Given the description of an element on the screen output the (x, y) to click on. 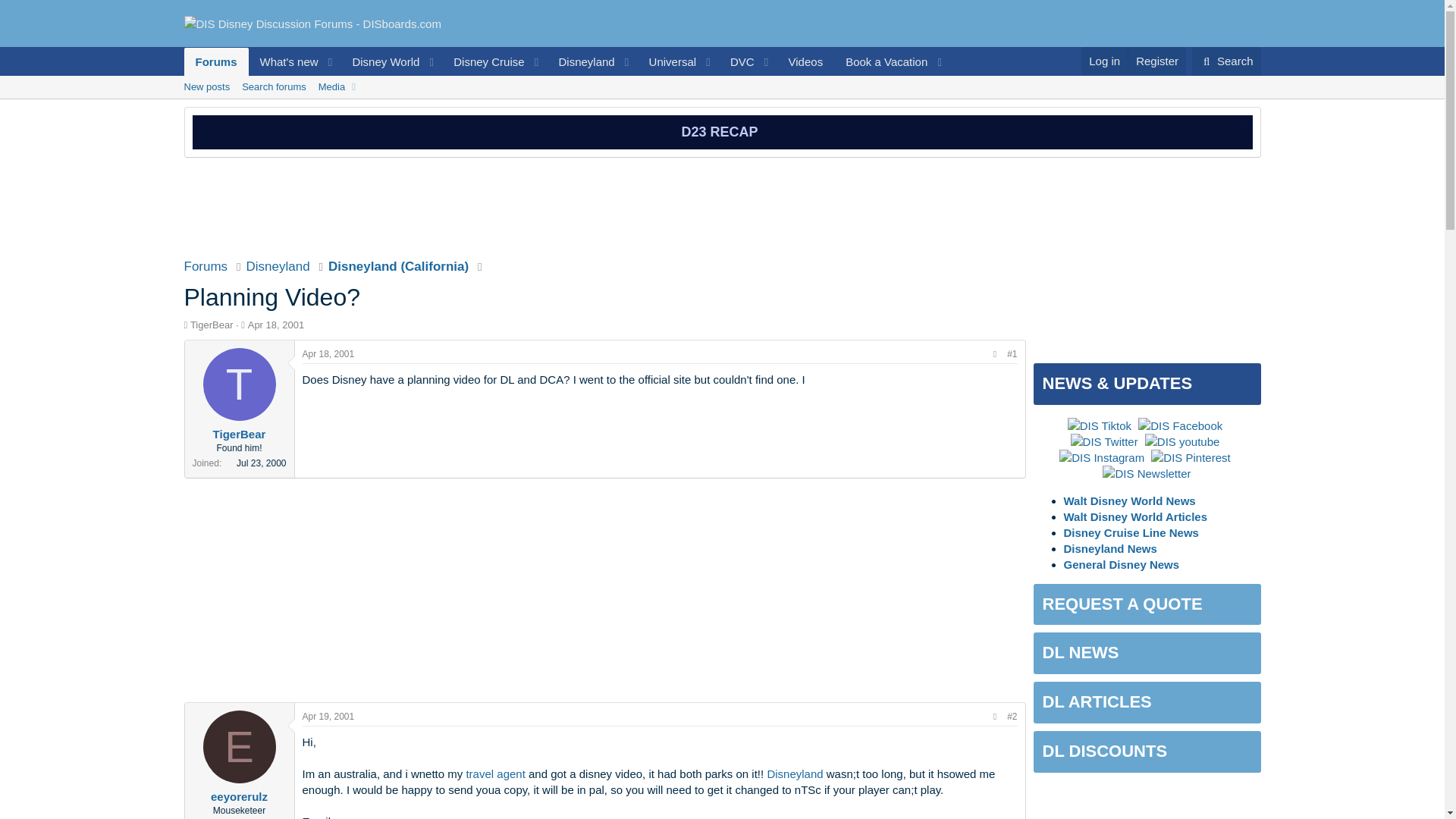
Forums (215, 61)
Disneyland (581, 61)
Disney Cruise Line Information (483, 61)
Universal (667, 61)
What's new (284, 61)
Disney World (380, 61)
Search (1226, 61)
Walt Disney World Information (721, 104)
